Given the description of an element on the screen output the (x, y) to click on. 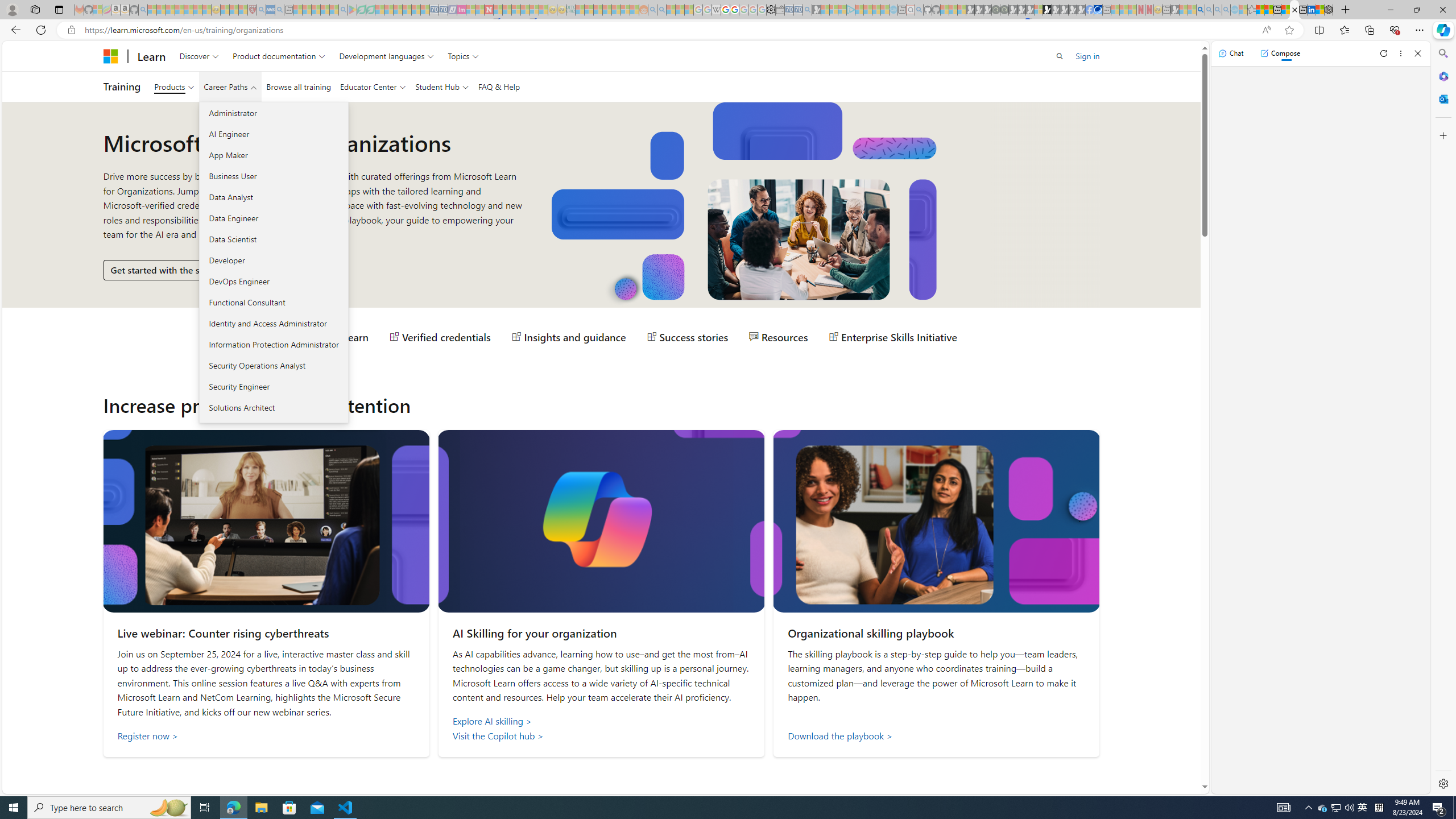
Bluey: Let's Play! - Apps on Google Play - Sleeping (352, 9)
Download the playbook > (936, 735)
Data Analyst (273, 196)
Learn (151, 56)
